Given the description of an element on the screen output the (x, y) to click on. 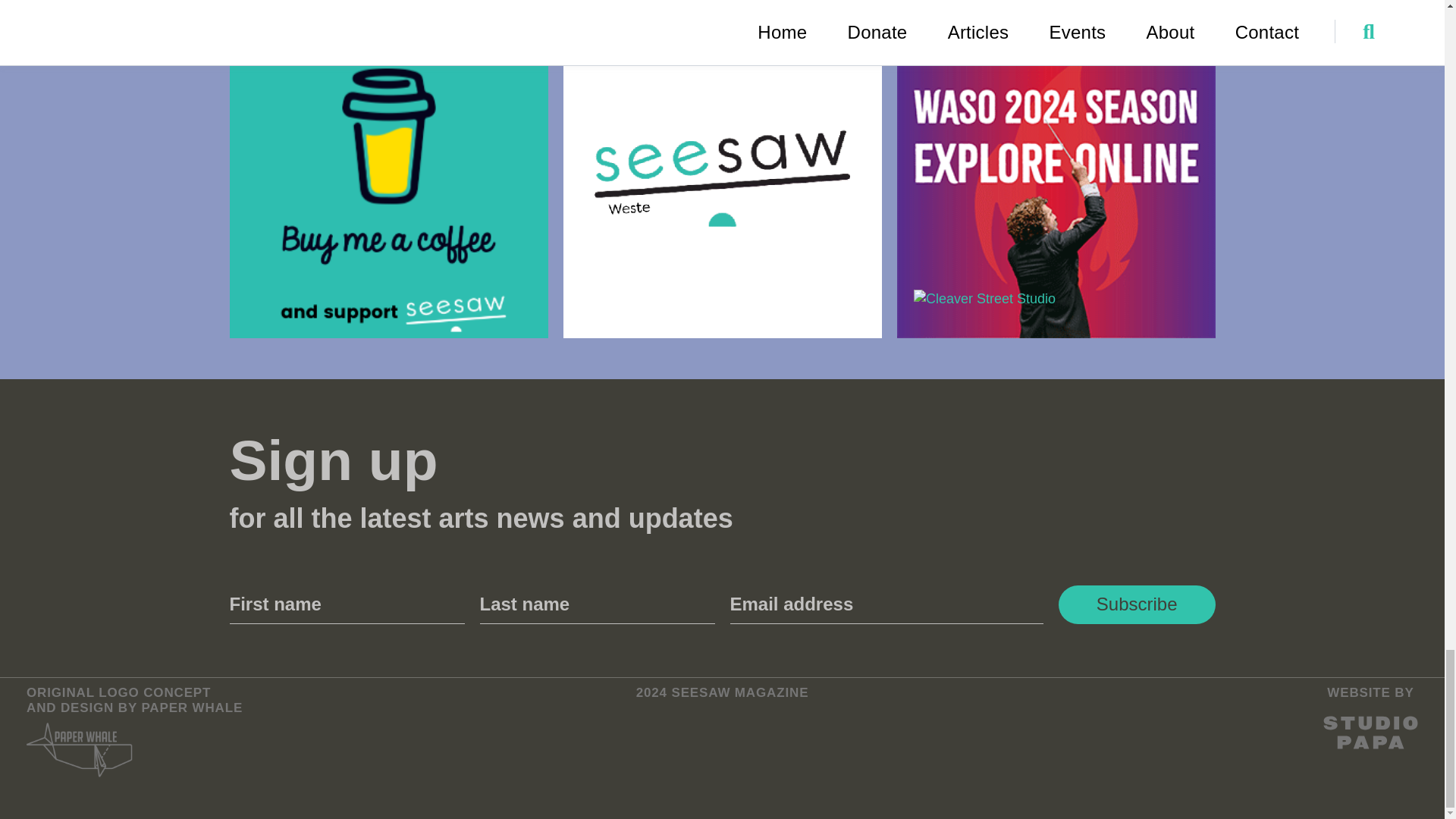
Subscribe (1136, 604)
